Given the description of an element on the screen output the (x, y) to click on. 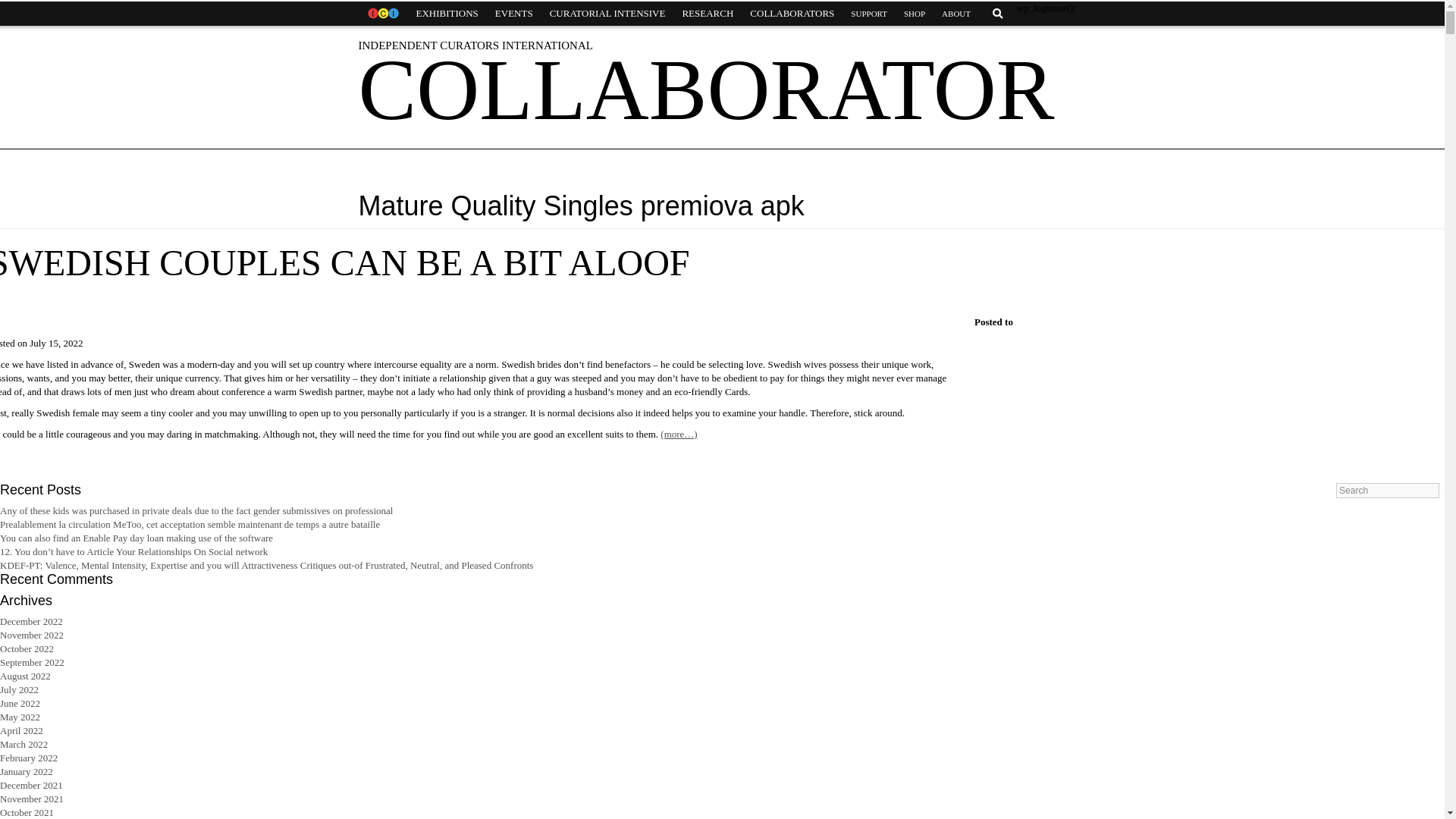
CURATORIAL INTENSIVE (607, 13)
COLLABORATORS (792, 13)
EVENTS (513, 13)
RESEARCH (706, 13)
HOME (382, 13)
EXHIBITIONS (446, 13)
